Given the description of an element on the screen output the (x, y) to click on. 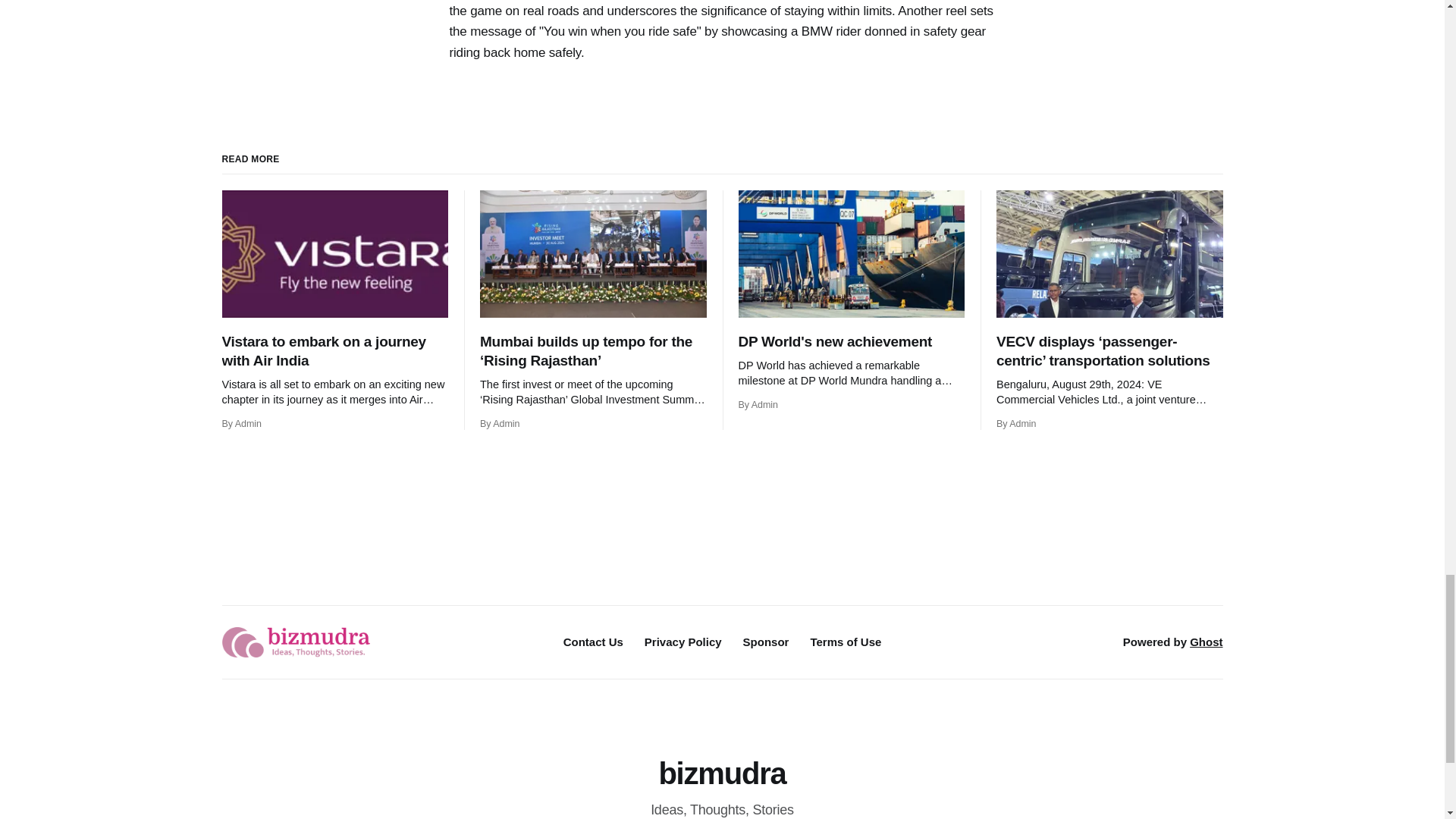
Ghost (1206, 641)
Contact Us (593, 641)
Privacy Policy (683, 641)
Sponsor (765, 641)
Terms of Use (844, 641)
